Given the description of an element on the screen output the (x, y) to click on. 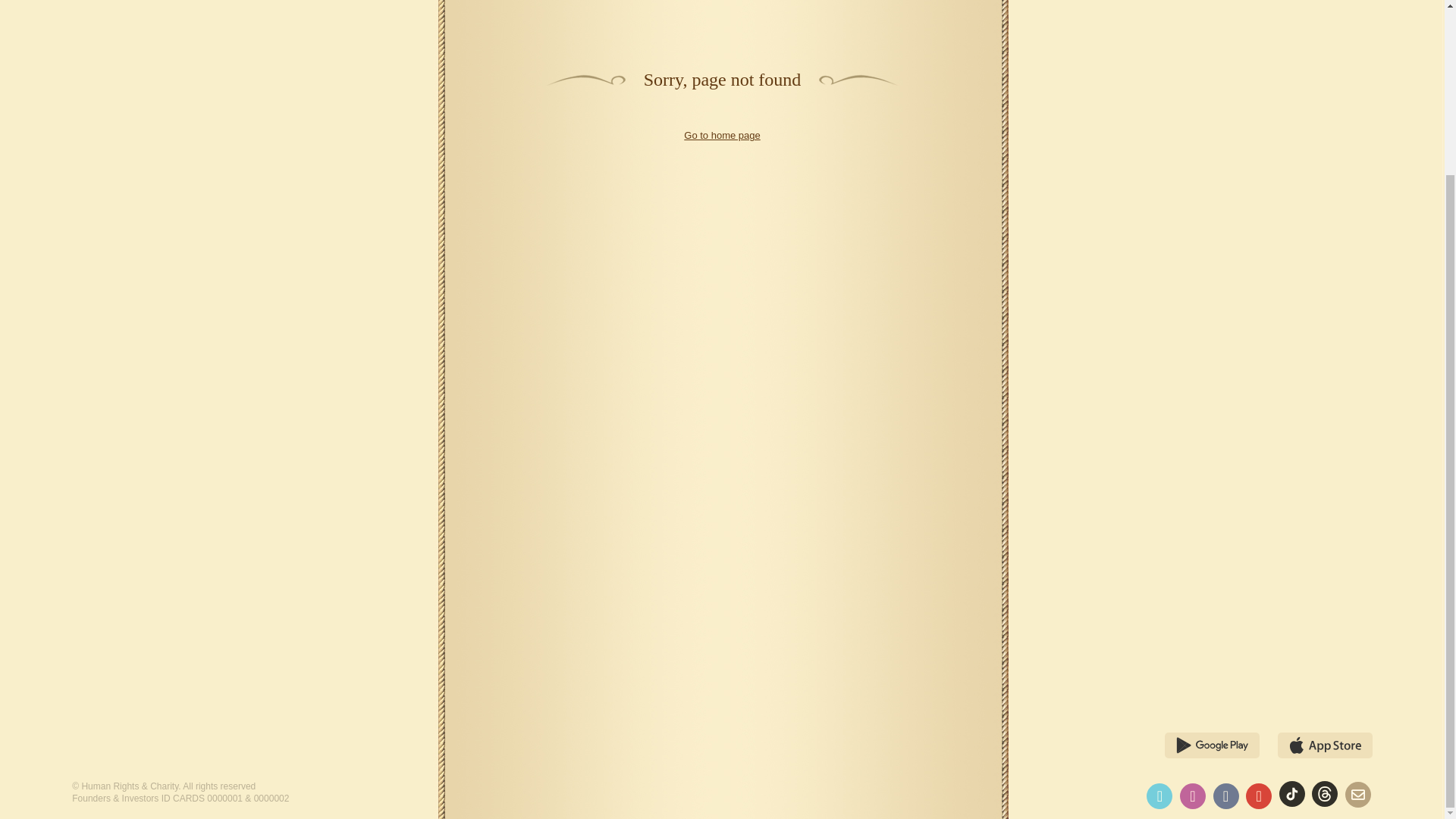
Go to home page (722, 134)
